Given the description of an element on the screen output the (x, y) to click on. 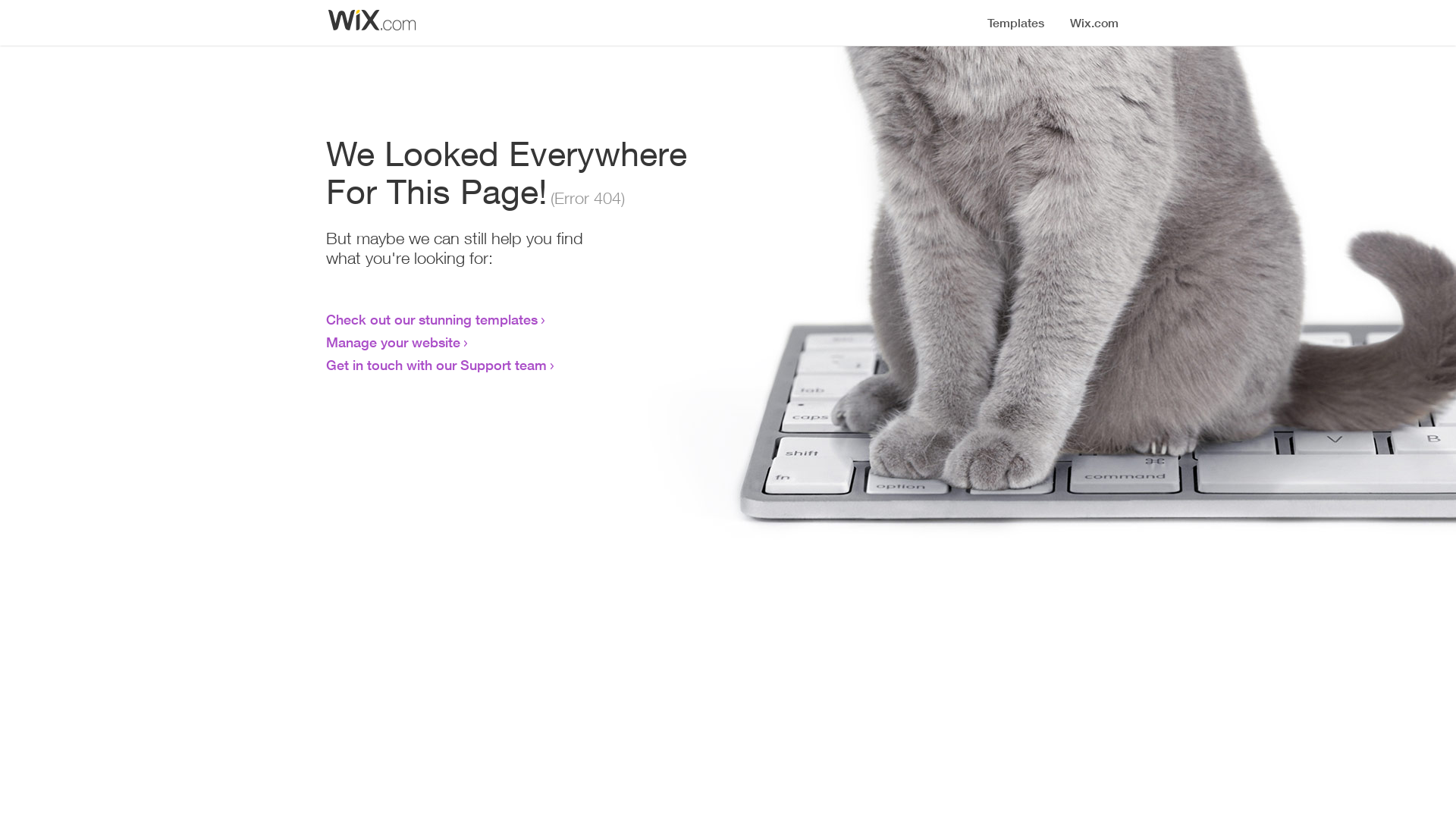
Get in touch with our Support team Element type: text (436, 364)
Manage your website Element type: text (393, 341)
Check out our stunning templates Element type: text (431, 318)
